Given the description of an element on the screen output the (x, y) to click on. 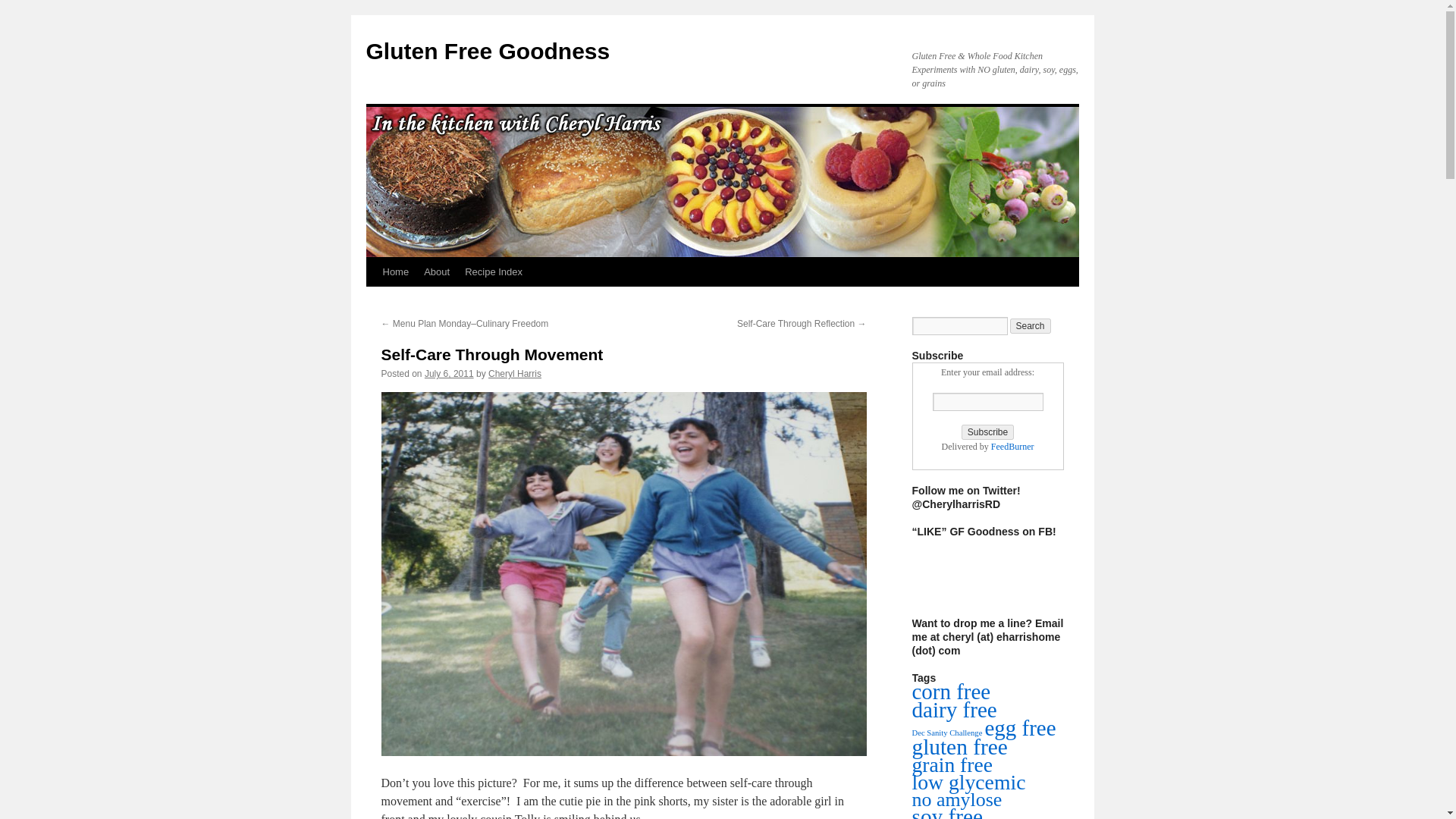
Home (395, 271)
Home (395, 271)
FeedBurner (1012, 446)
2:20 pm (449, 373)
About (436, 271)
July 6, 2011 (449, 373)
Subscribe (986, 432)
Gluten Free Goodness (487, 50)
Cheryl Harris (514, 373)
